Given the description of an element on the screen output the (x, y) to click on. 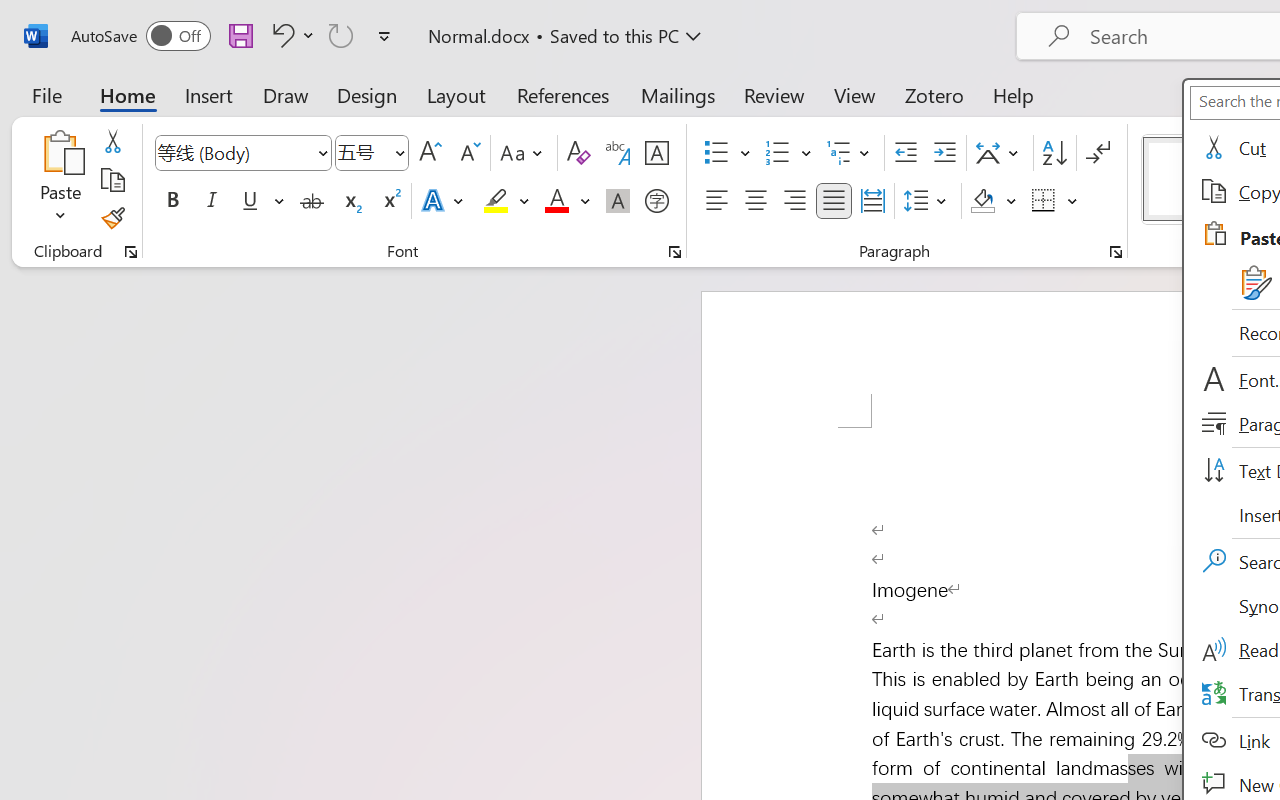
Enclose Characters... (656, 201)
Multilevel List (850, 153)
Shading RGB(0, 0, 0) (982, 201)
Shading (993, 201)
Font Color (567, 201)
Sort... (1054, 153)
Keep Source Formatting (1253, 282)
Undo Paste Text Only (280, 35)
Office Clipboard... (131, 252)
Help (1013, 94)
